Given the description of an element on the screen output the (x, y) to click on. 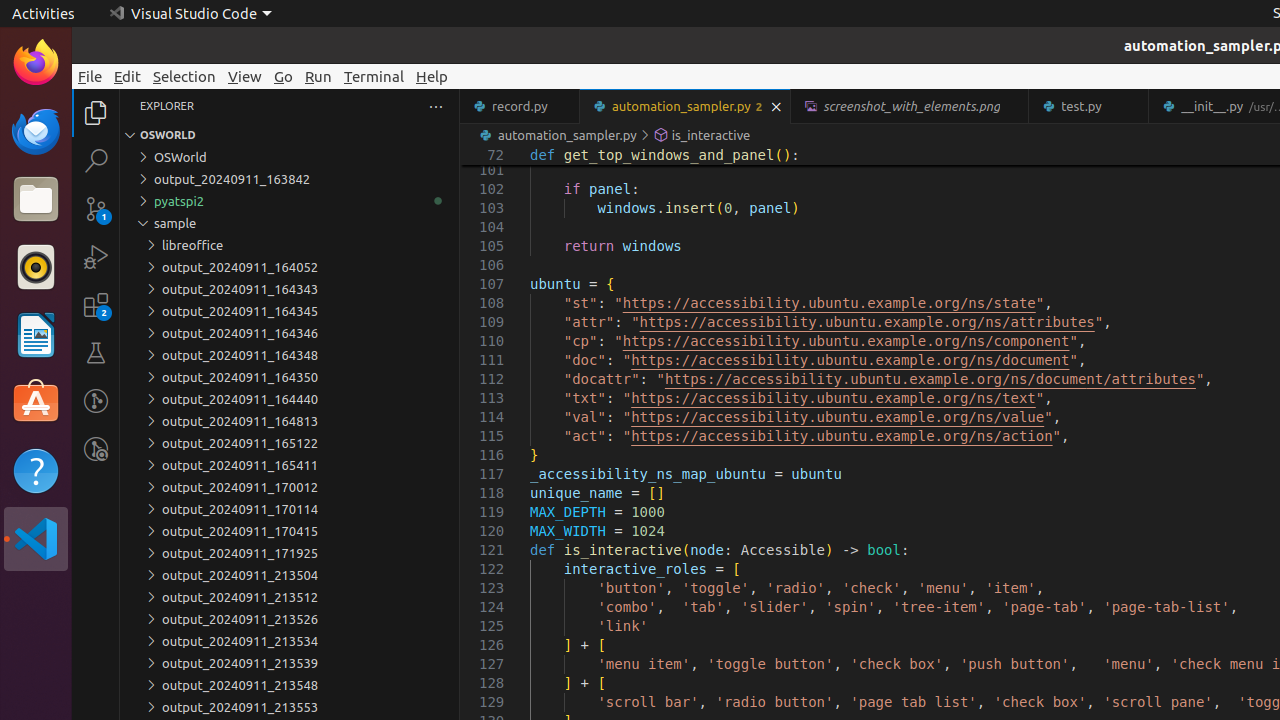
Firefox Web Browser Element type: push-button (36, 63)
Testing Element type: page-tab (96, 353)
test.py Element type: page-tab (1089, 106)
output_20240911_213534 Element type: tree-item (289, 641)
